Given the description of an element on the screen output the (x, y) to click on. 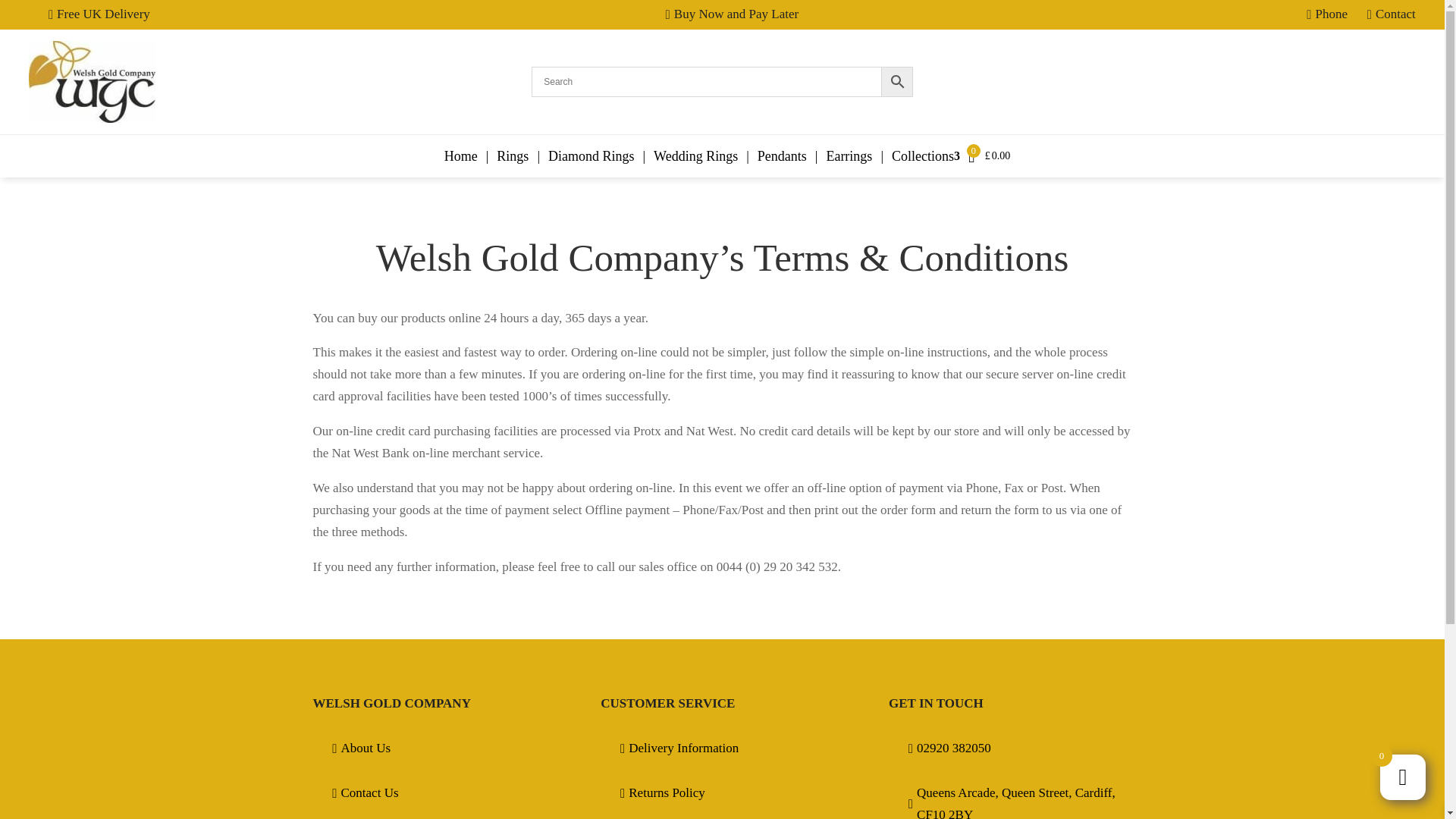
Collections (923, 156)
Pendants (780, 156)
Pendants (780, 156)
Earrings (848, 156)
Wedding Rings (694, 156)
Wedding Rings (694, 156)
Welsh Gold Logo (92, 81)
Collections (923, 156)
Diamond Rings (588, 156)
Diamond Rings (588, 156)
Earrings (848, 156)
